Given the description of an element on the screen output the (x, y) to click on. 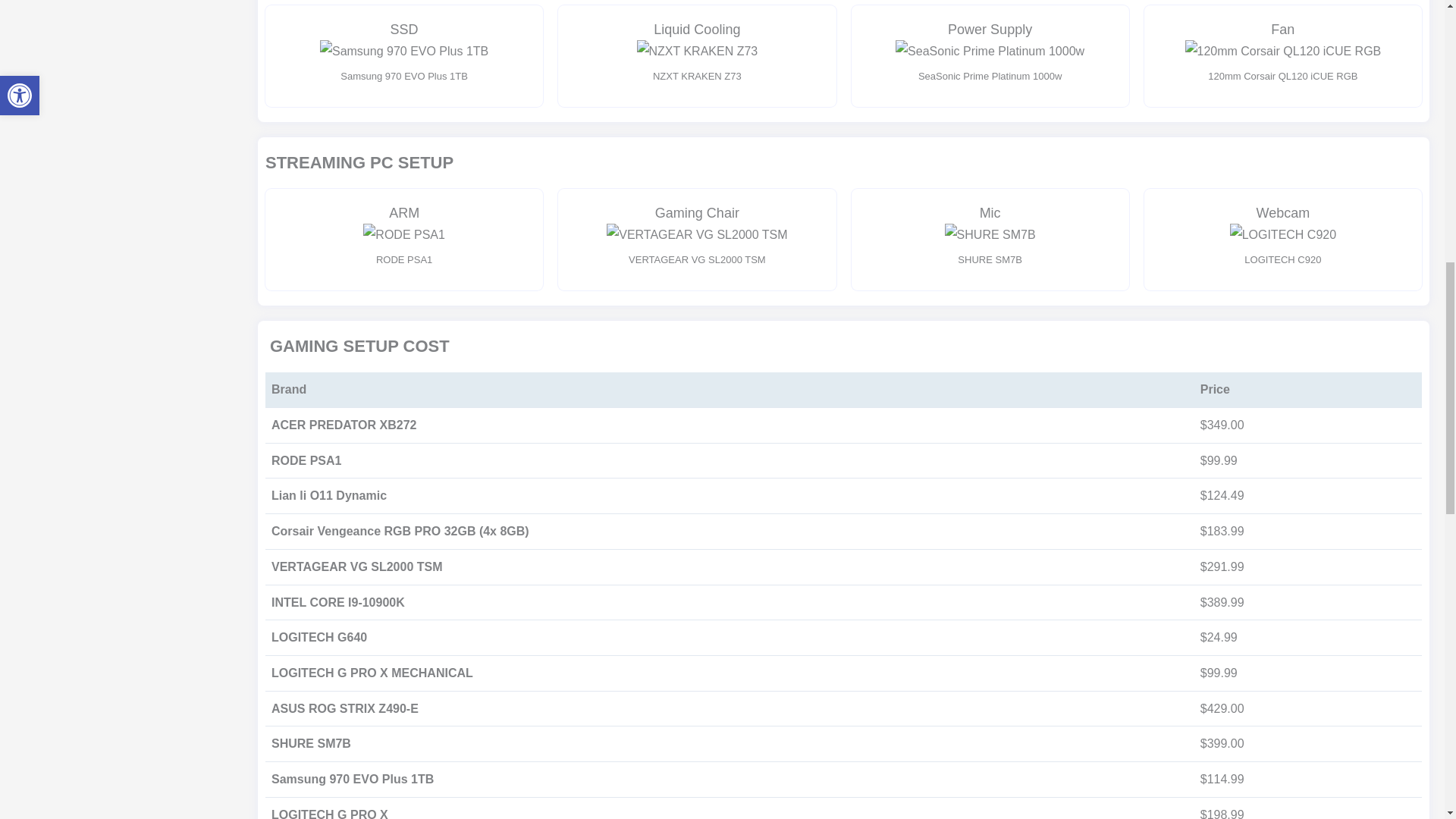
RODE PSA1 (403, 234)
120mm Corsair QL120 iCUE RGB (1282, 51)
SeaSonic Prime Platinum 1000w (989, 51)
NZXT KRAKEN Z73 (697, 51)
Samsung 970 EVO Plus 1TB (403, 51)
